Given the description of an element on the screen output the (x, y) to click on. 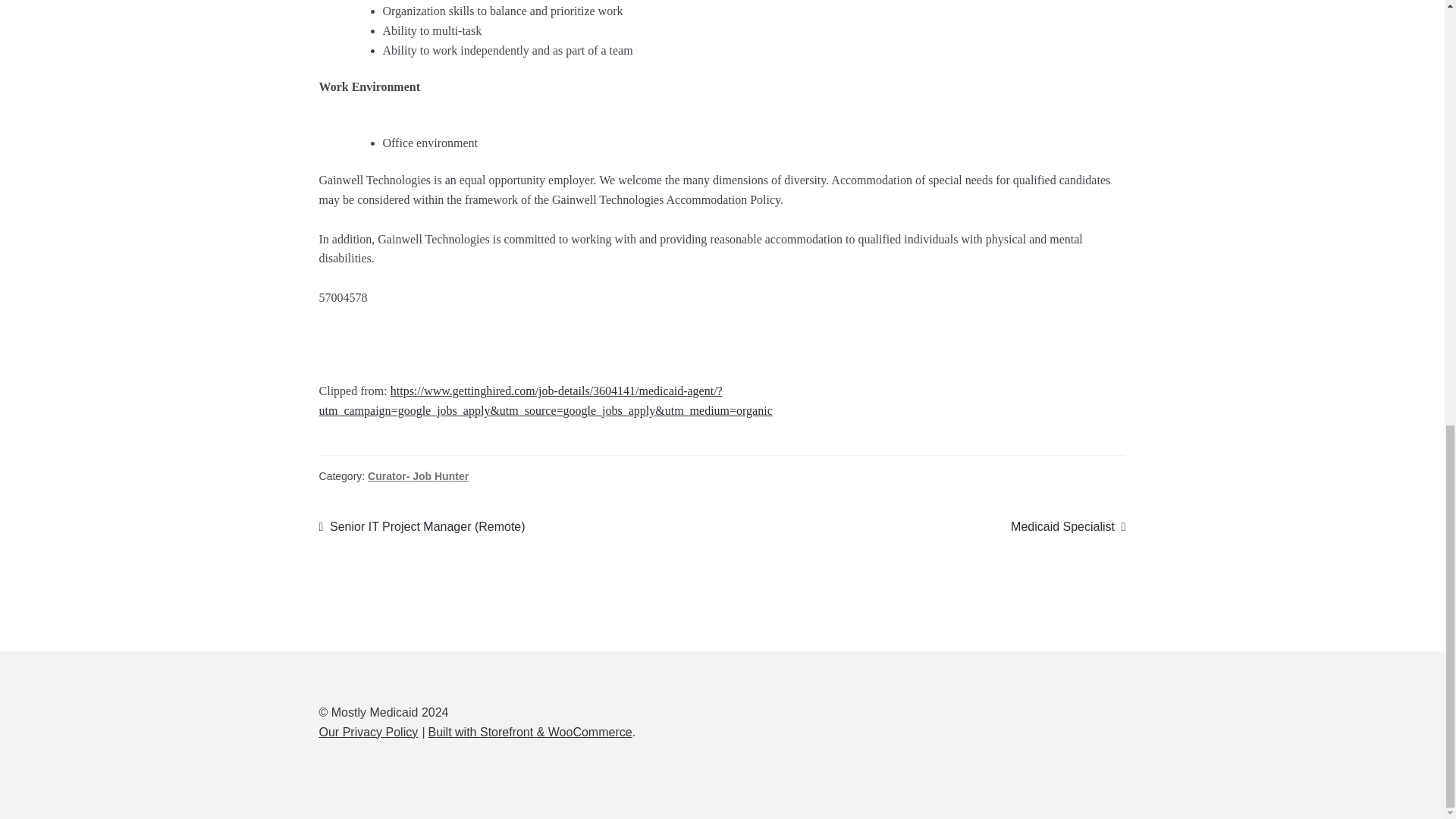
WooCommerce - The Best eCommerce Platform for WordPress (529, 731)
